Given the description of an element on the screen output the (x, y) to click on. 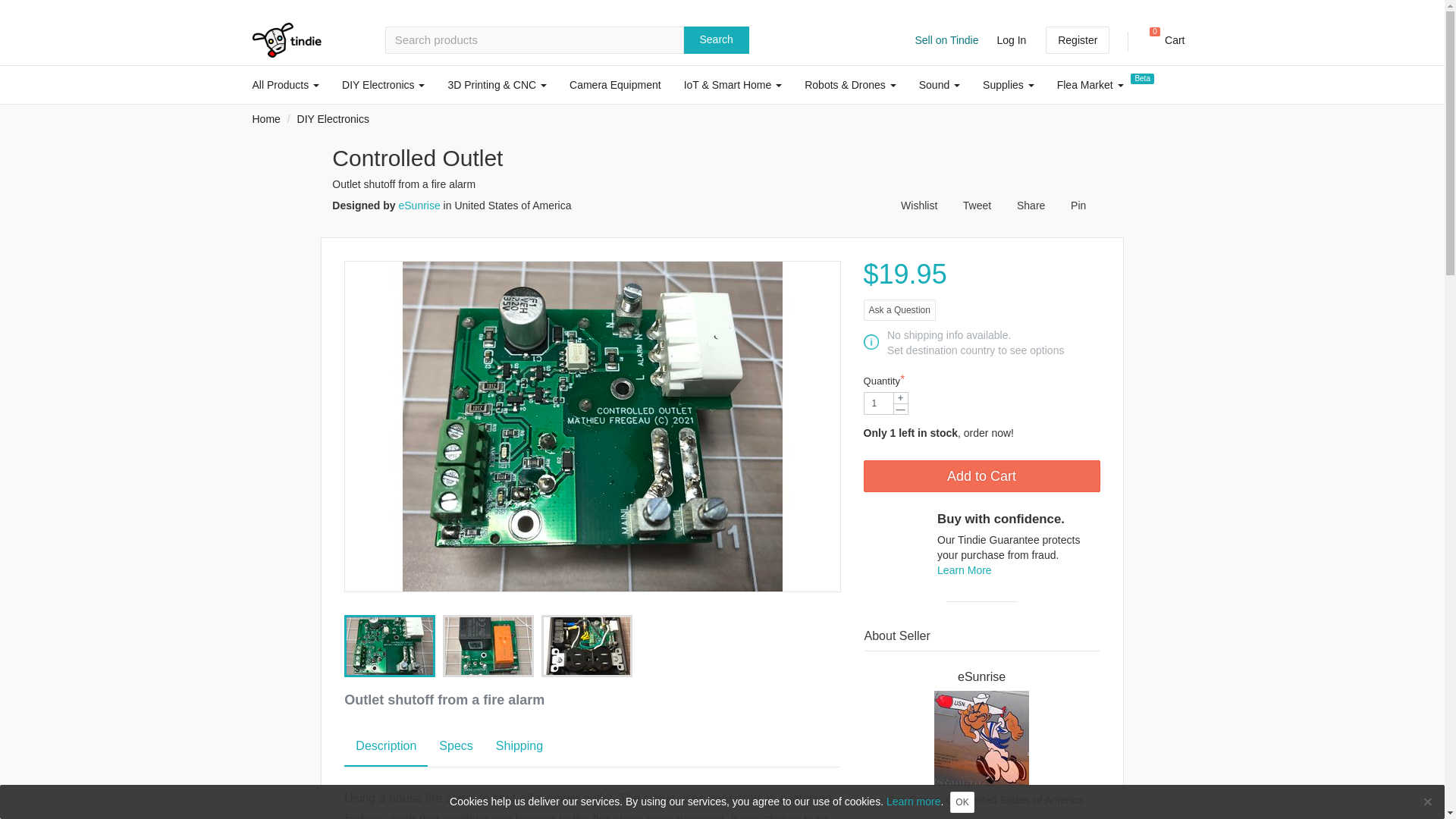
1 (885, 403)
Tindie (285, 39)
Search (716, 40)
Sell on Tindie (946, 40)
Register (1077, 40)
Add to Cart (981, 476)
DIY Electronics (382, 85)
Log In (1010, 40)
All Products (1161, 40)
